Given the description of an element on the screen output the (x, y) to click on. 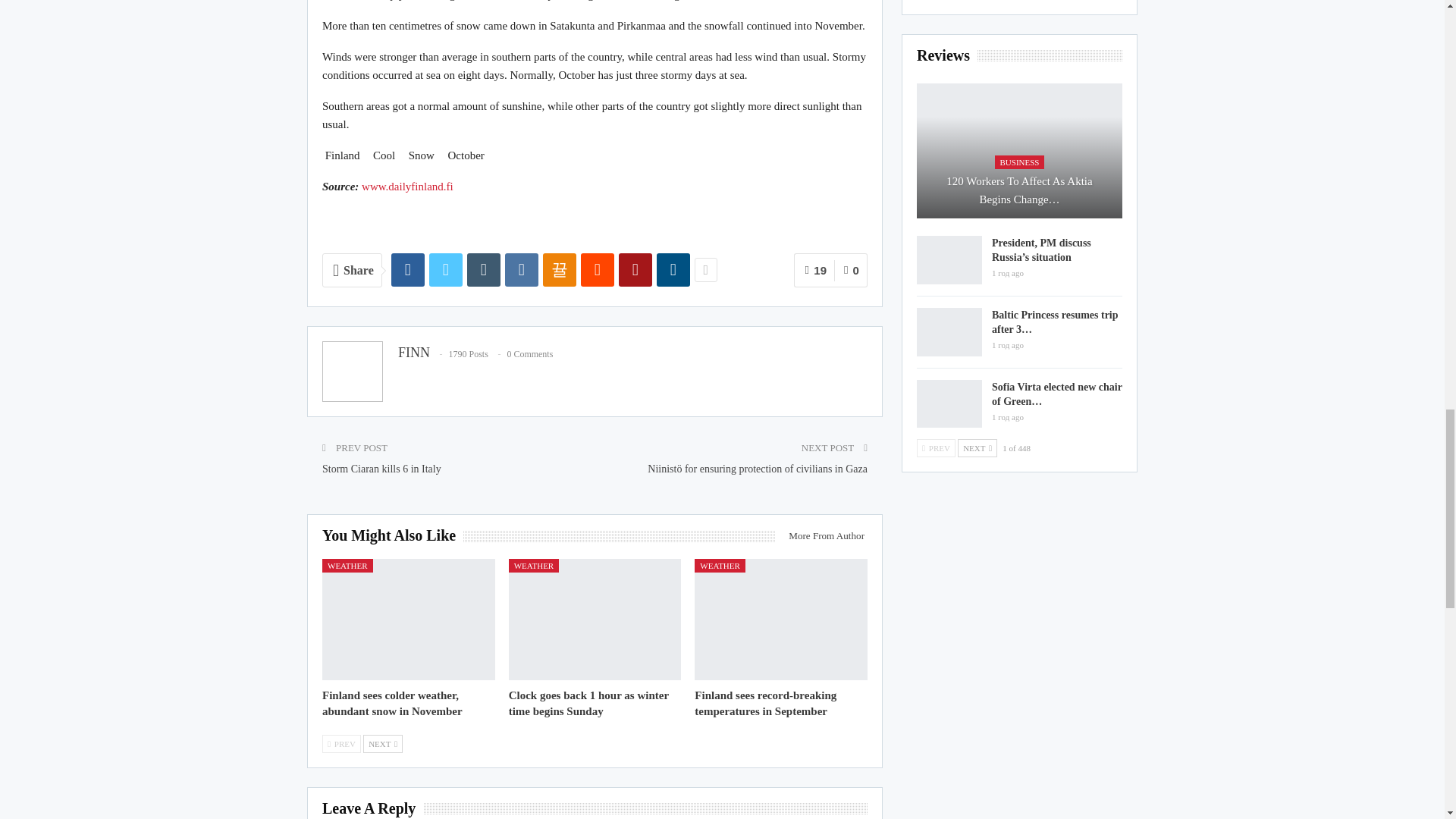
Finland sees colder weather, abundant snow in November (392, 703)
Finland sees record-breaking temperatures in September (780, 618)
0 (850, 270)
Finland sees colder weather, abundant snow in November (408, 618)
Finland sees record-breaking temperatures in September (764, 703)
Clock goes back 1 hour as winter time begins Sunday (588, 703)
www.dailyfinland.fi (406, 186)
Clock goes back 1 hour as winter time begins Sunday (594, 618)
